Given the description of an element on the screen output the (x, y) to click on. 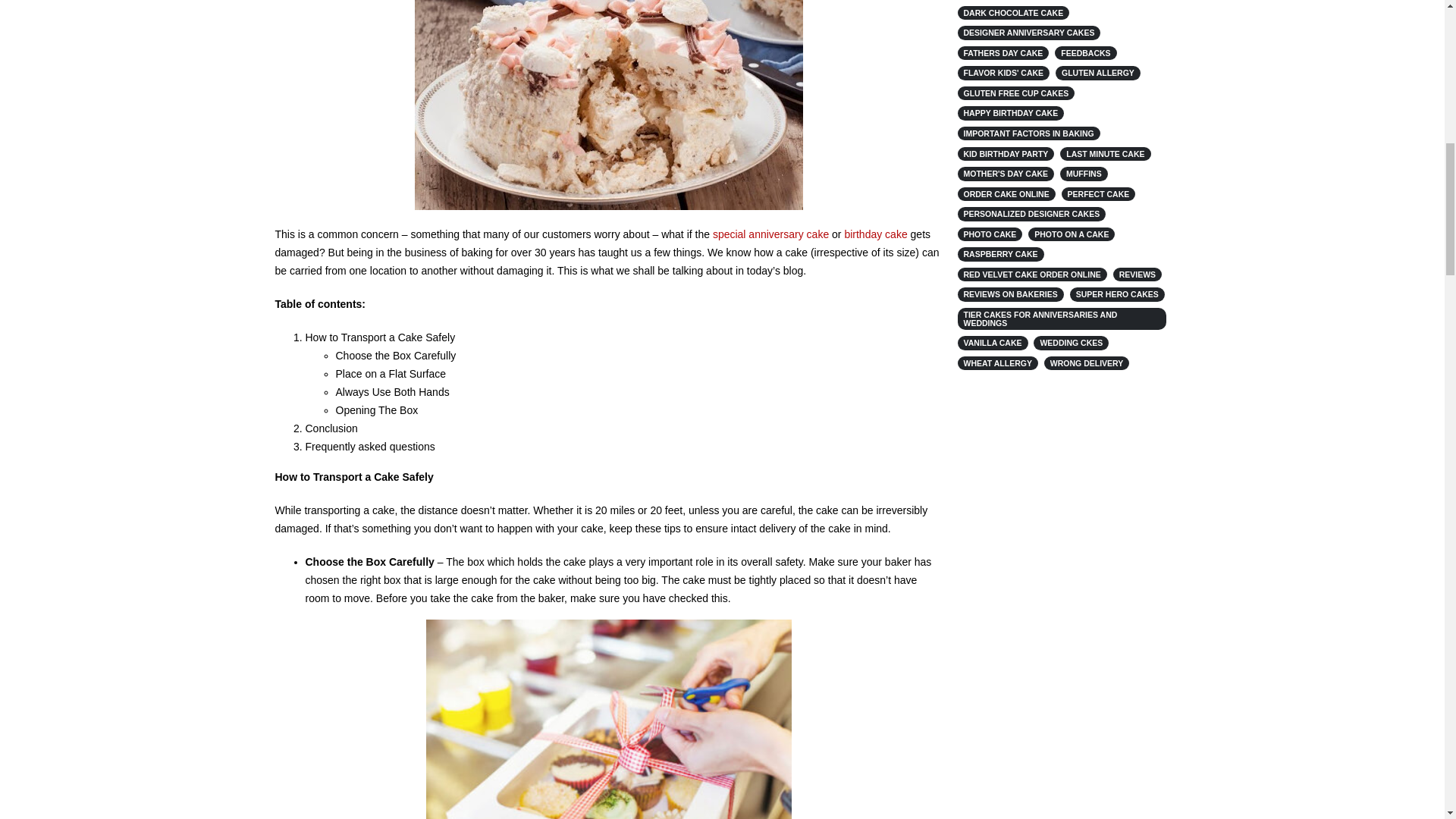
special anniversary cake (770, 234)
birthday cake (875, 234)
